Given the description of an element on the screen output the (x, y) to click on. 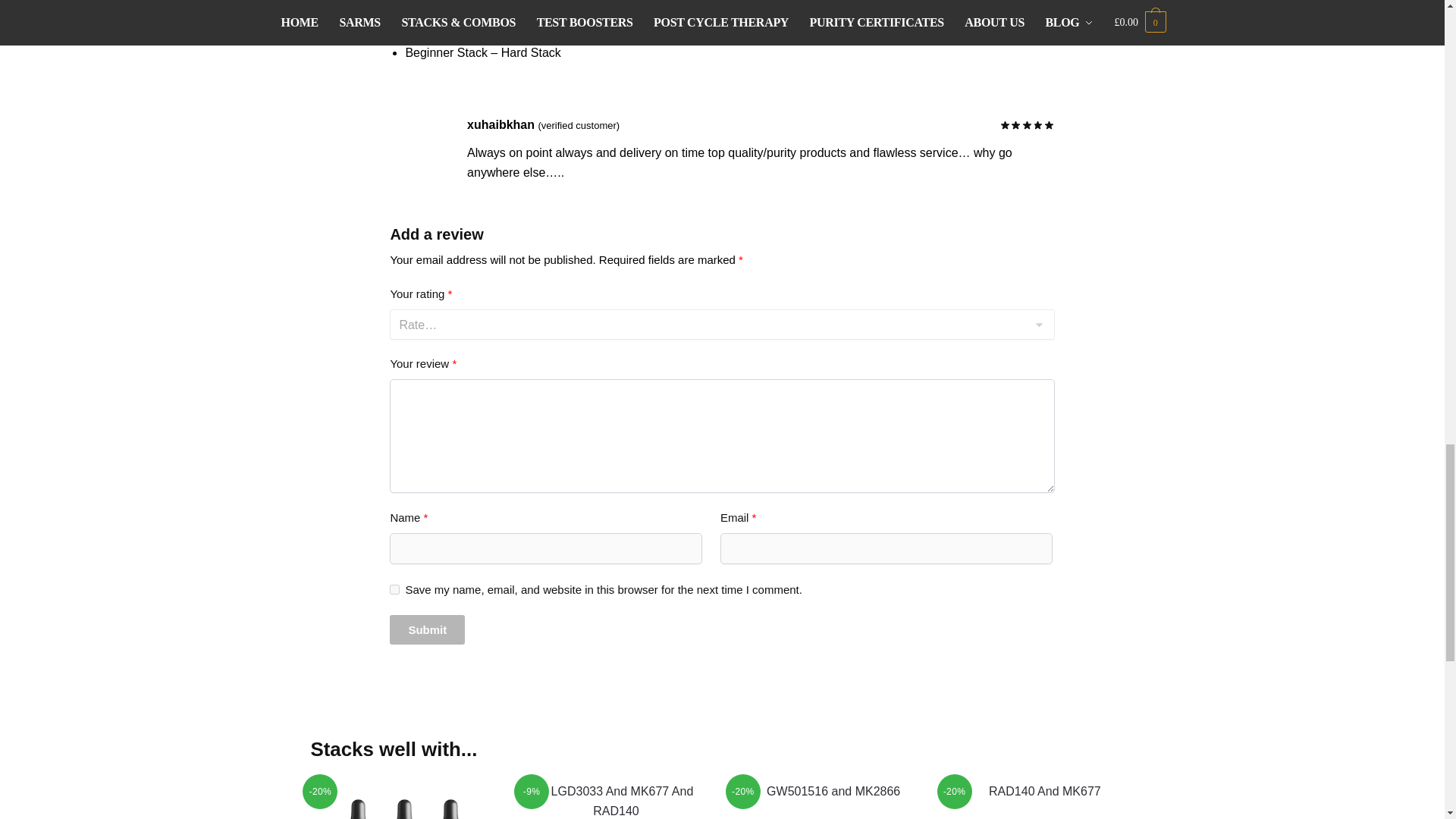
Ultimate Physique Stack (404, 800)
Submit (427, 629)
Enhanced Bulk Muscle Stack (615, 800)
Submit (427, 629)
yes (394, 589)
